Given the description of an element on the screen output the (x, y) to click on. 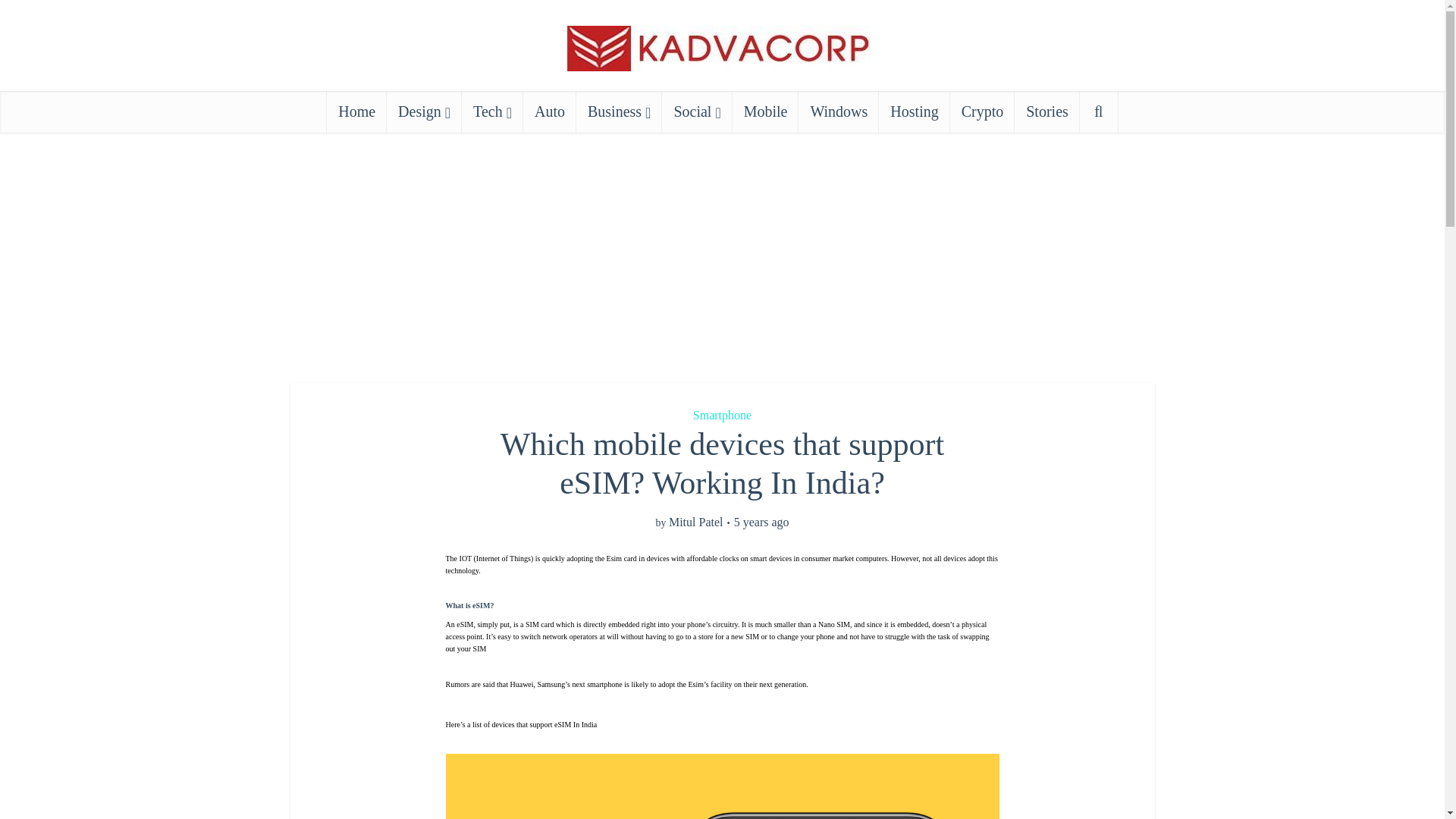
Stories (1047, 111)
Social (697, 111)
Mitul Patel (695, 522)
Windows (838, 111)
Smartphone (722, 414)
Business (619, 111)
Design (424, 111)
Mobile (765, 111)
Hosting (914, 111)
Crypto (982, 111)
